Given the description of an element on the screen output the (x, y) to click on. 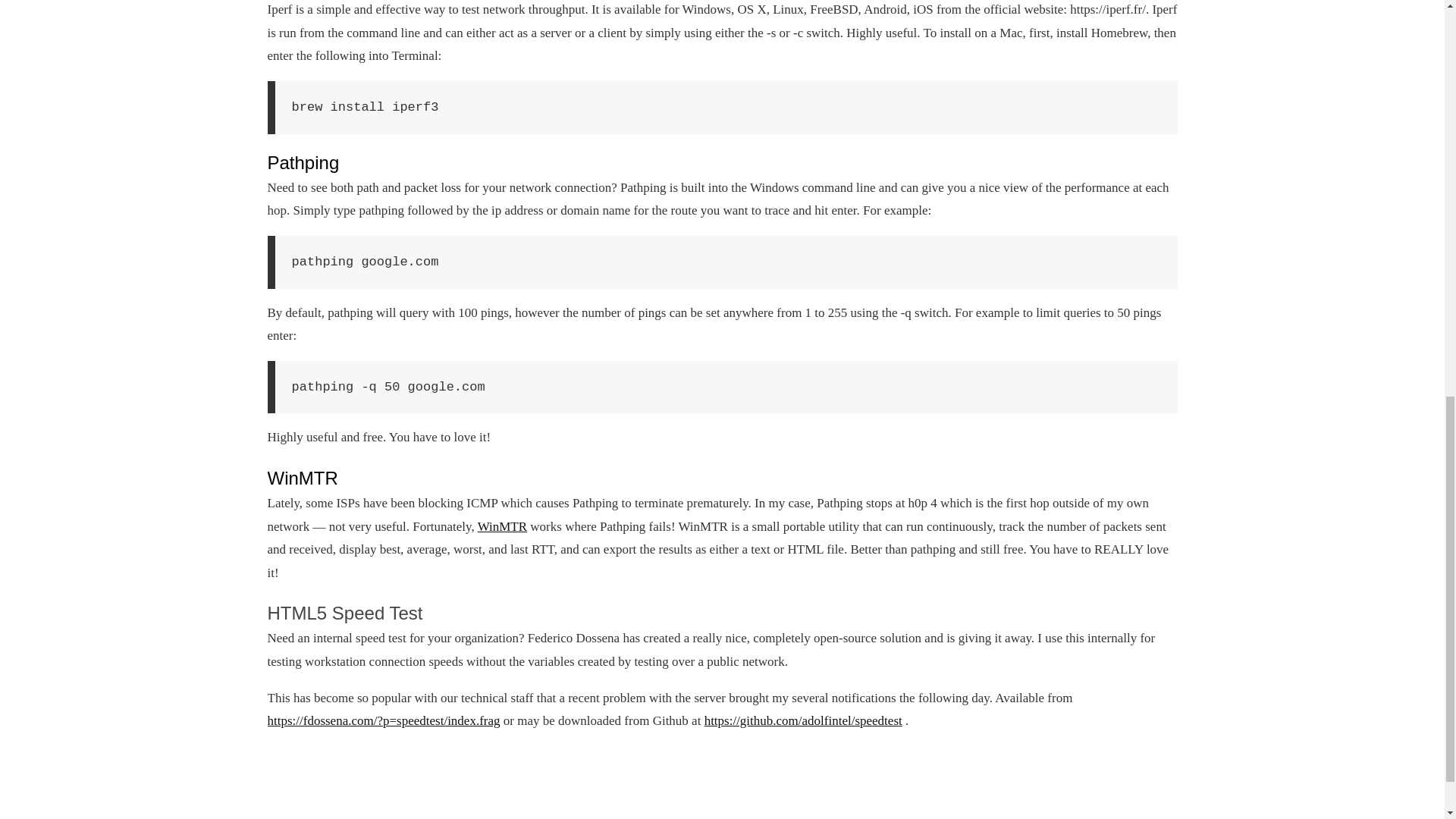
WinMTR (502, 526)
